Given the description of an element on the screen output the (x, y) to click on. 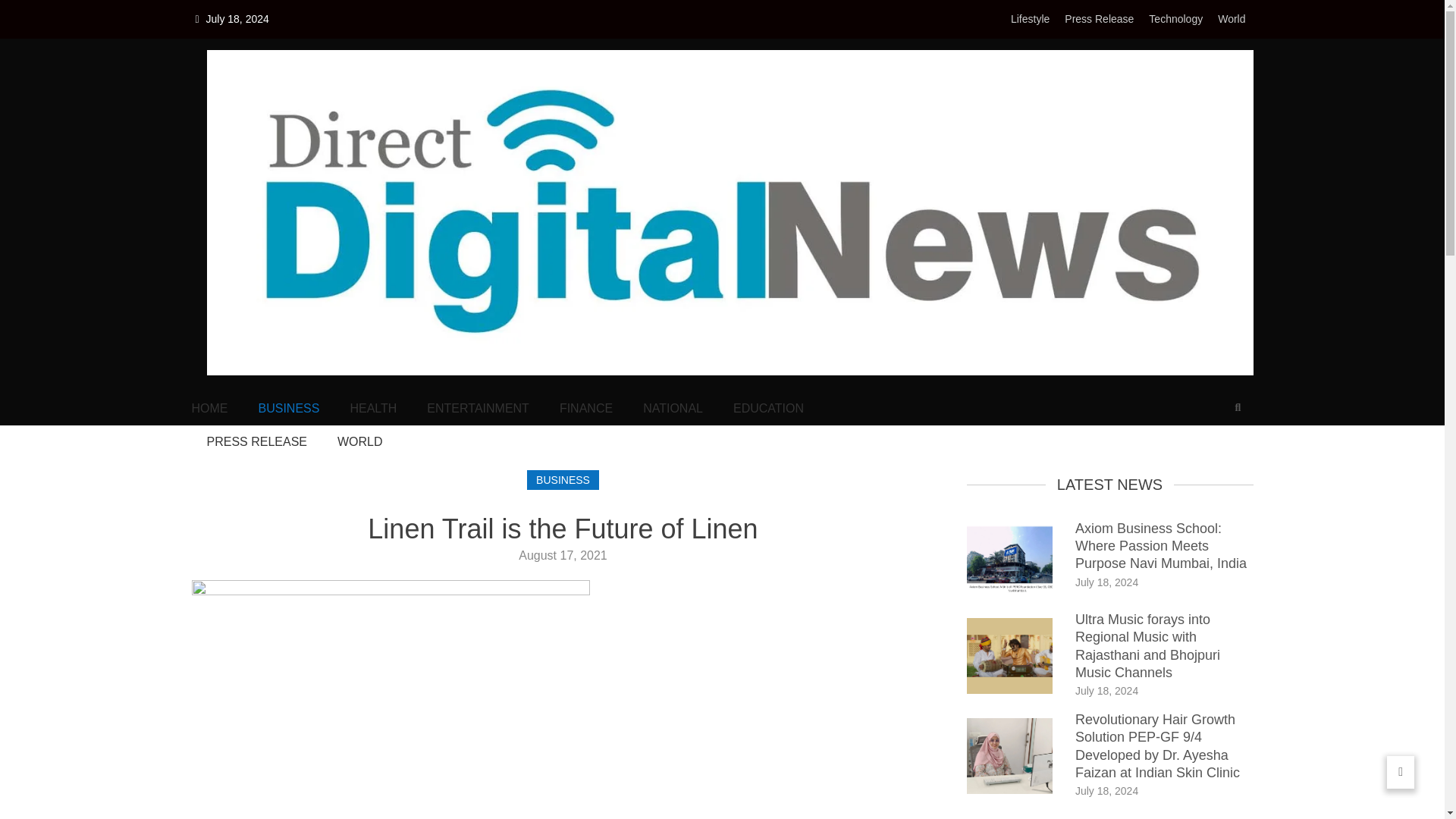
July 18, 2024 (1106, 790)
August 17, 2021 (562, 554)
EDUCATION (768, 408)
World (1230, 19)
July 18, 2024 (1106, 690)
Direct Digital News (306, 396)
HEALTH (372, 408)
Technology (1175, 19)
Lifestyle (1029, 19)
NATIONAL (673, 408)
BUSINESS (562, 479)
HOME (208, 408)
PRESS RELEASE (256, 442)
